Given the description of an element on the screen output the (x, y) to click on. 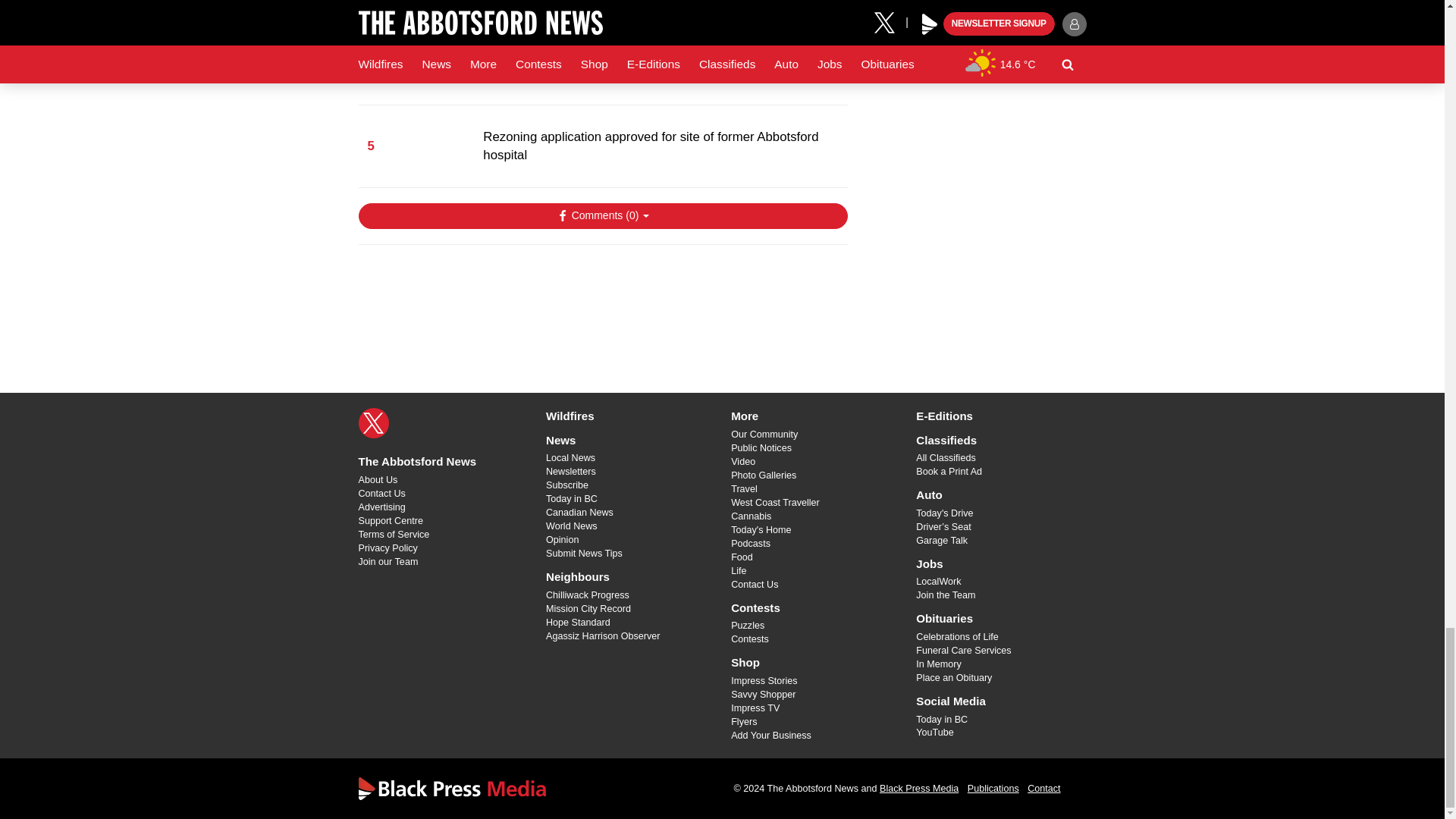
X (373, 422)
Show Comments (602, 216)
